Given the description of an element on the screen output the (x, y) to click on. 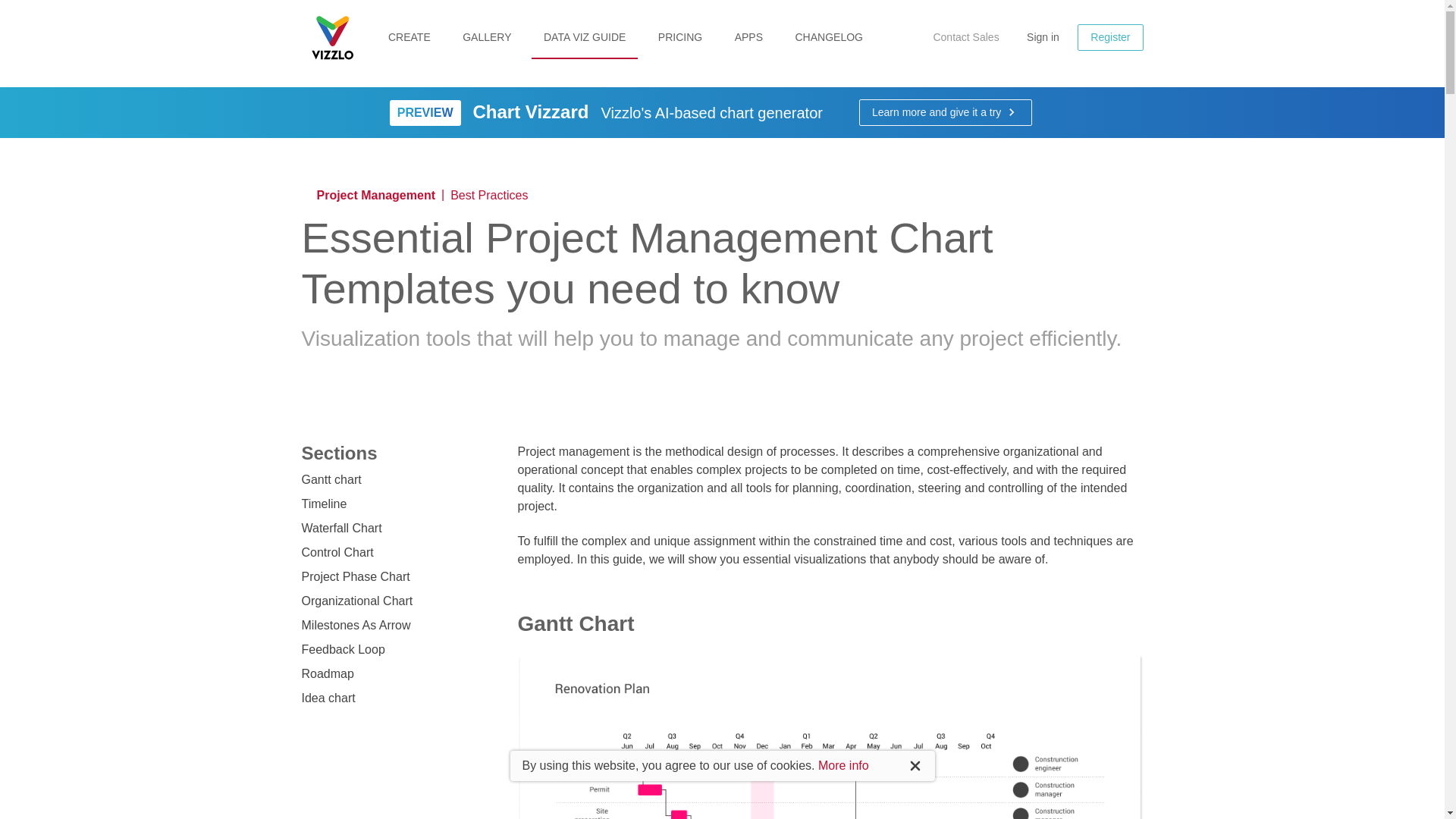
Idea chart (328, 697)
PRICING (680, 37)
Project Management (376, 195)
APPS (748, 37)
Gantt chart (331, 479)
Milestones As Arrow (355, 625)
Register (1109, 37)
Control Chart (337, 552)
Sign in (1042, 36)
small-cross (737, 421)
Roadmap (327, 673)
Waterfall Chart (341, 527)
Timeline (324, 503)
Best Practices (488, 195)
Project Phase Chart (355, 576)
